Given the description of an element on the screen output the (x, y) to click on. 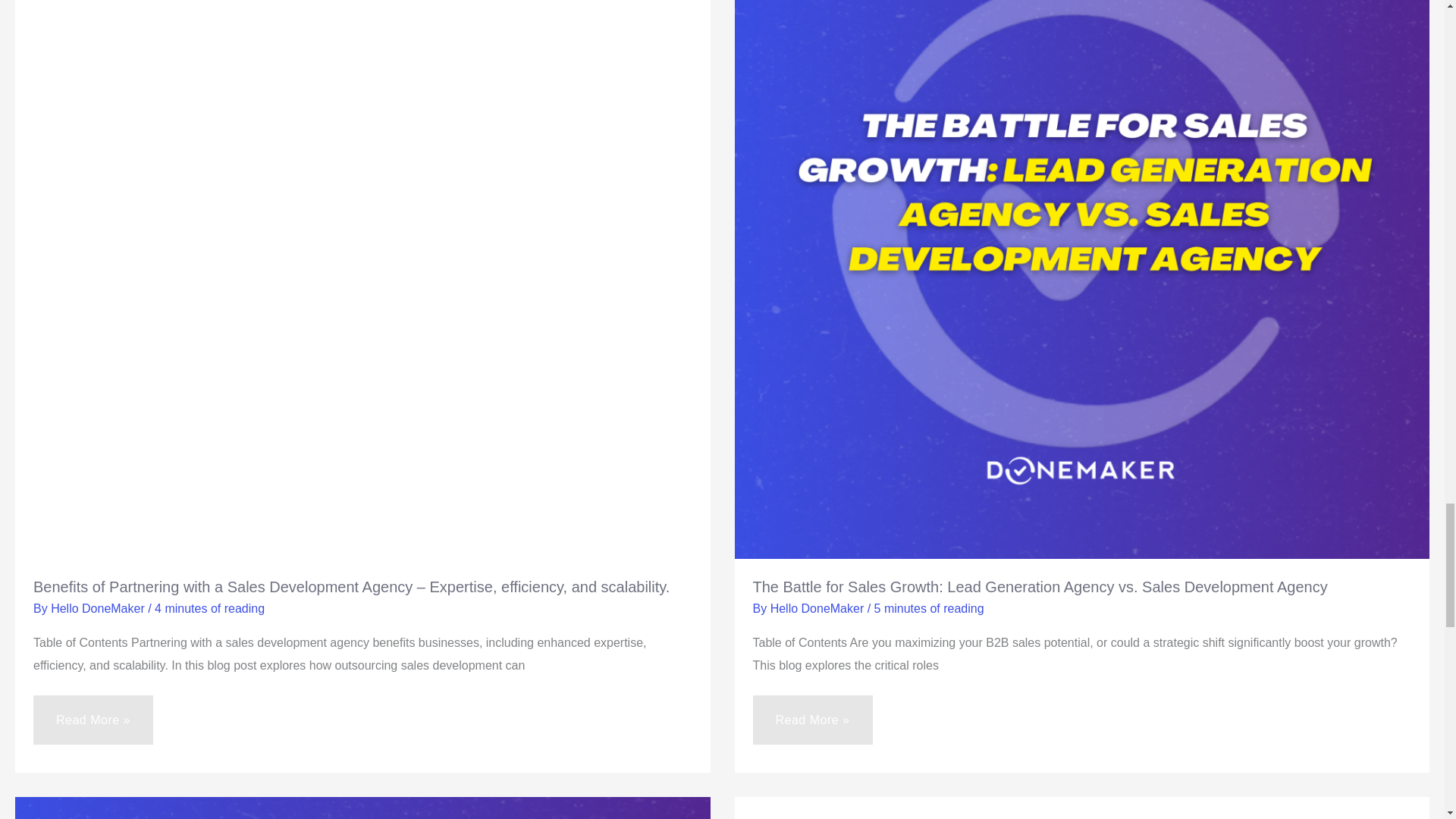
Hello DoneMaker (818, 608)
View all posts by Hello DoneMaker (99, 608)
View all posts by Hello DoneMaker (818, 608)
Hello DoneMaker (99, 608)
